Given the description of an element on the screen output the (x, y) to click on. 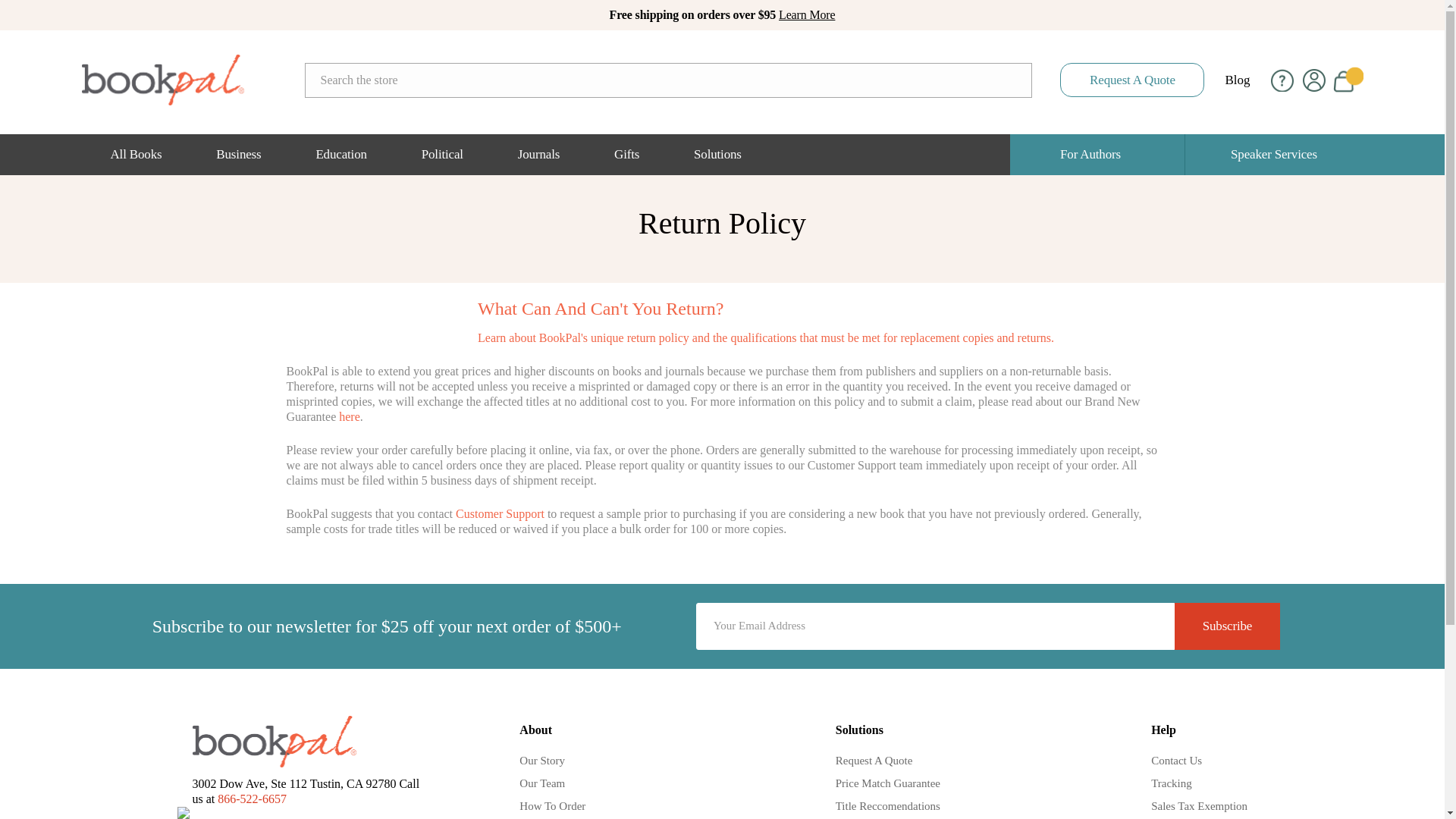
Request A Quote (1131, 79)
Subscribe (1226, 626)
BookPal (162, 79)
Blog (1236, 79)
Request A Quote (1131, 80)
All Books (135, 154)
Business (237, 154)
